Given the description of an element on the screen output the (x, y) to click on. 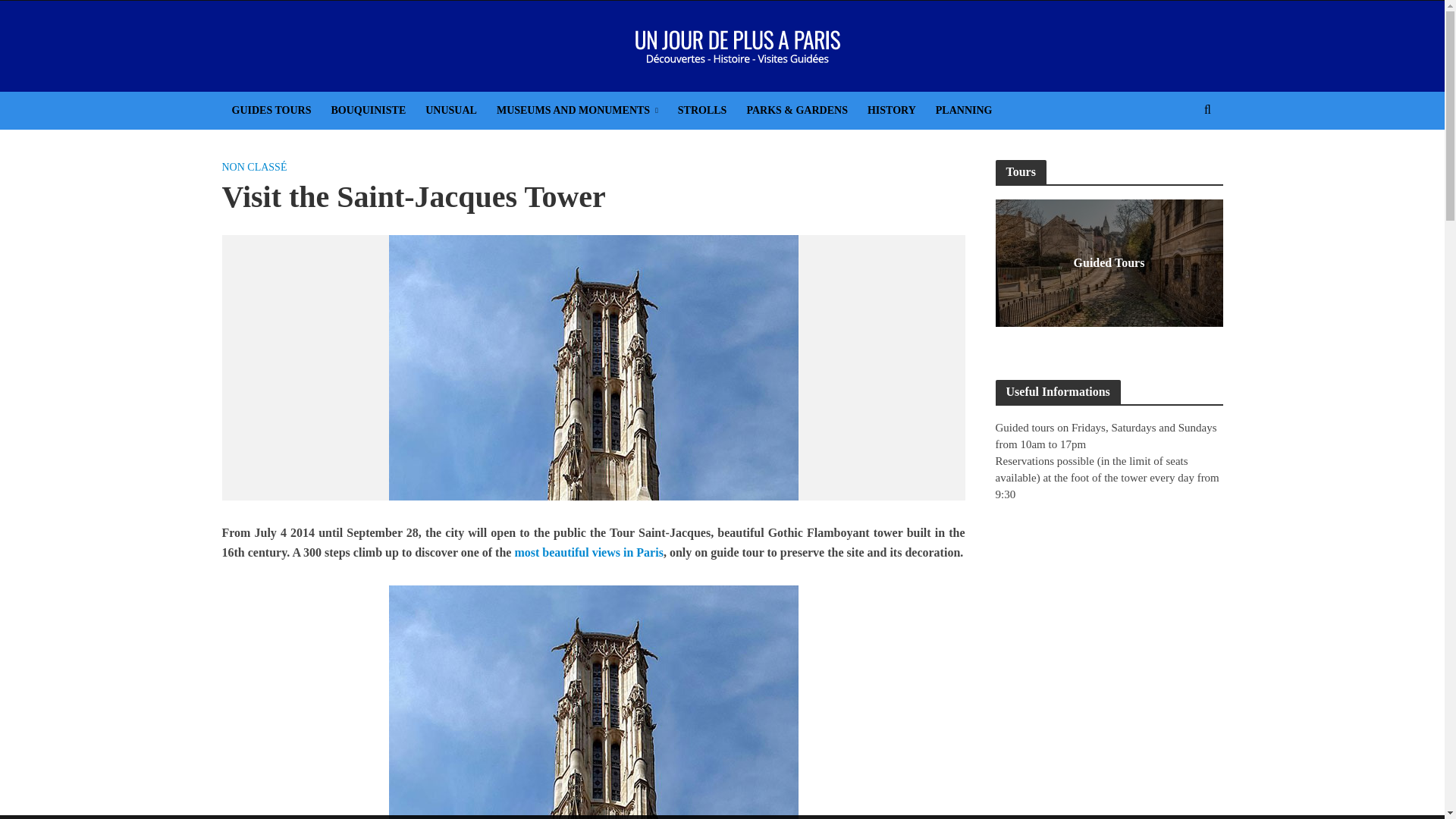
Les plus belles vues de Paris (587, 553)
UNUSUAL (450, 110)
HISTORY (891, 110)
STROLLS (702, 110)
BOUQUINISTE (367, 110)
GUIDES TOURS (270, 110)
Guided Tours (1108, 262)
most beautiful views in Paris (587, 553)
PLANNING (964, 110)
MUSEUMS AND MONUMENTS (577, 110)
